Given the description of an element on the screen output the (x, y) to click on. 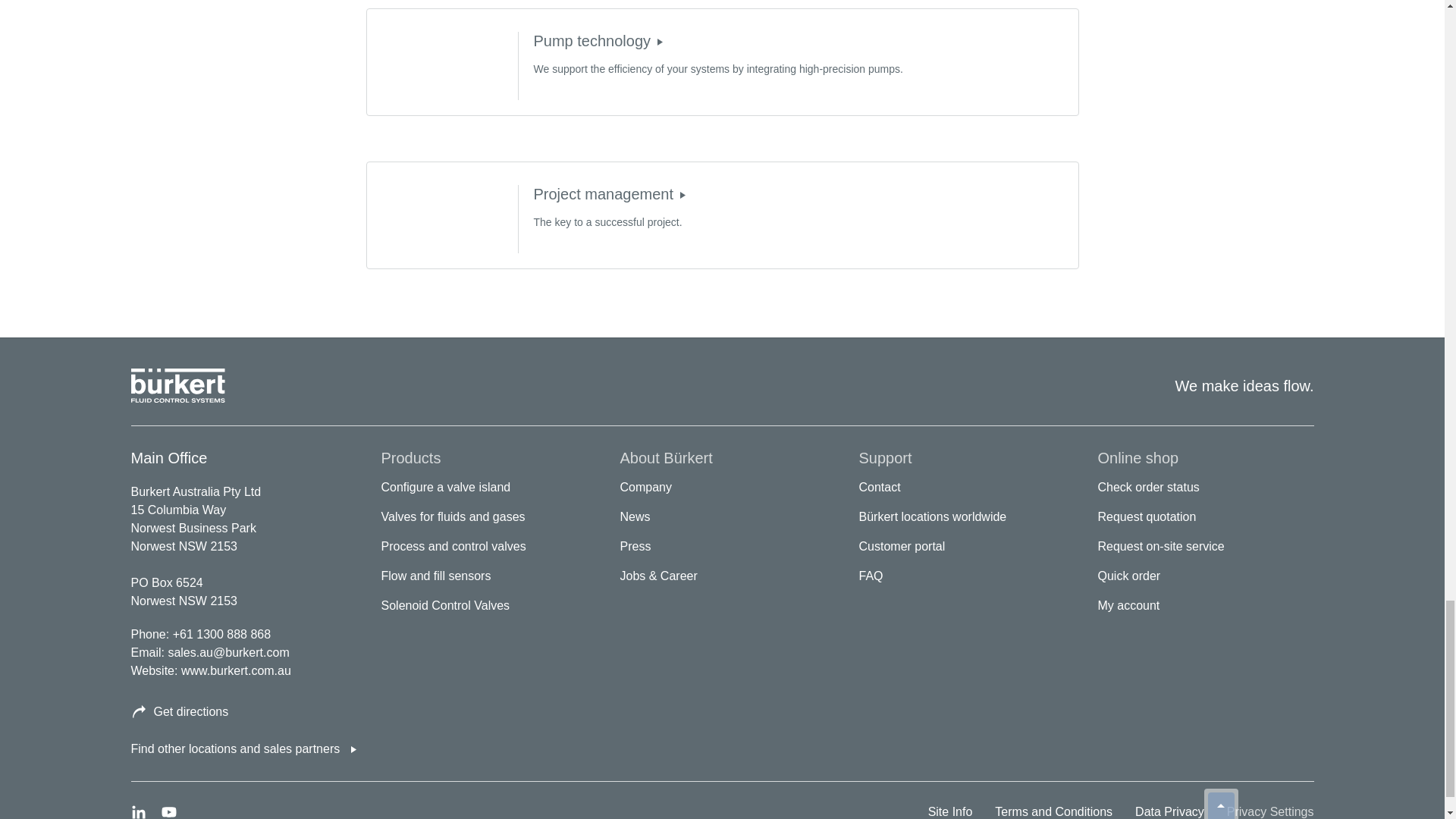
Buerkert logo (177, 385)
Pump technology (659, 41)
Project management (682, 194)
